Given the description of an element on the screen output the (x, y) to click on. 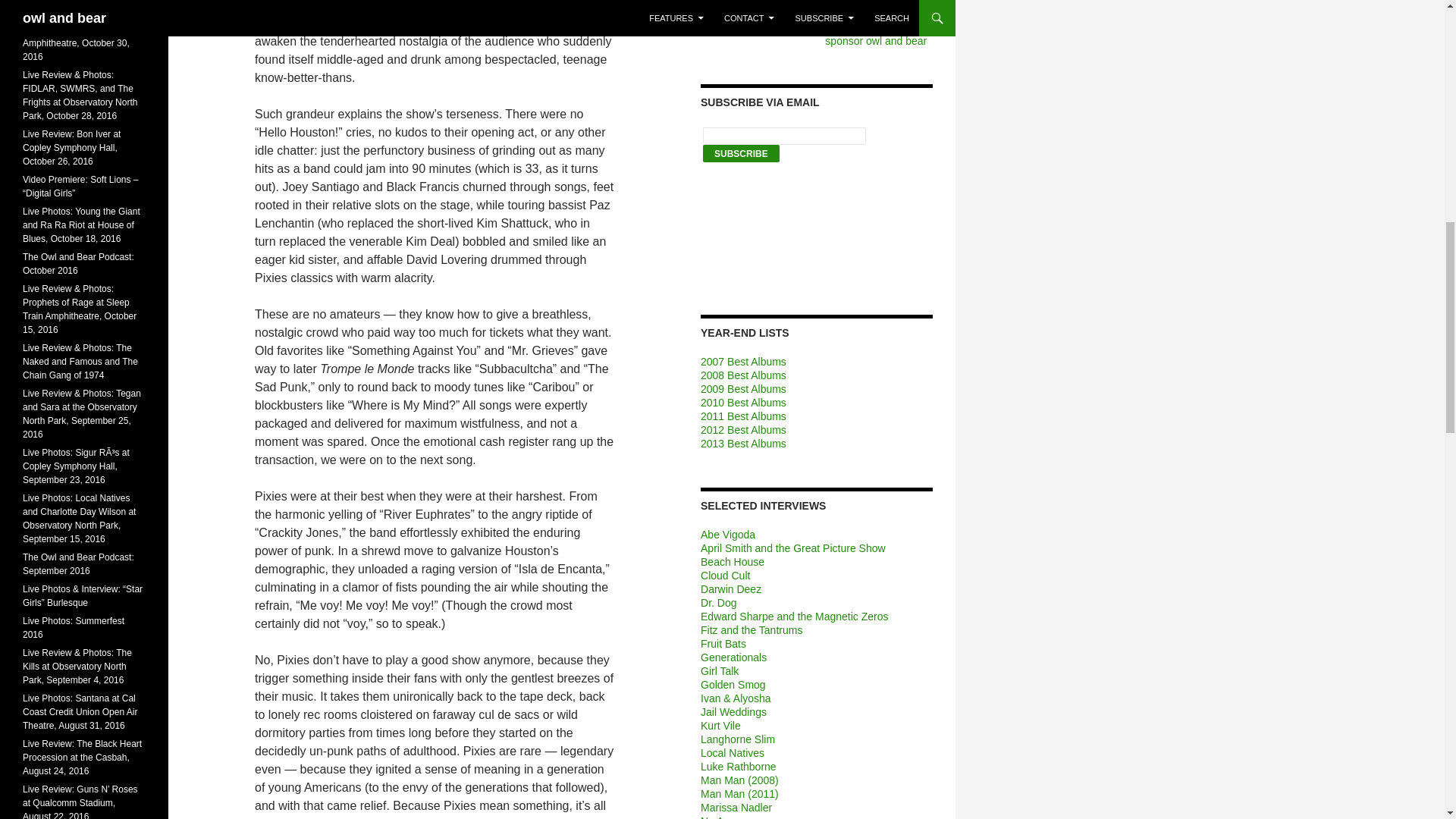
Subscribe (740, 153)
